Given the description of an element on the screen output the (x, y) to click on. 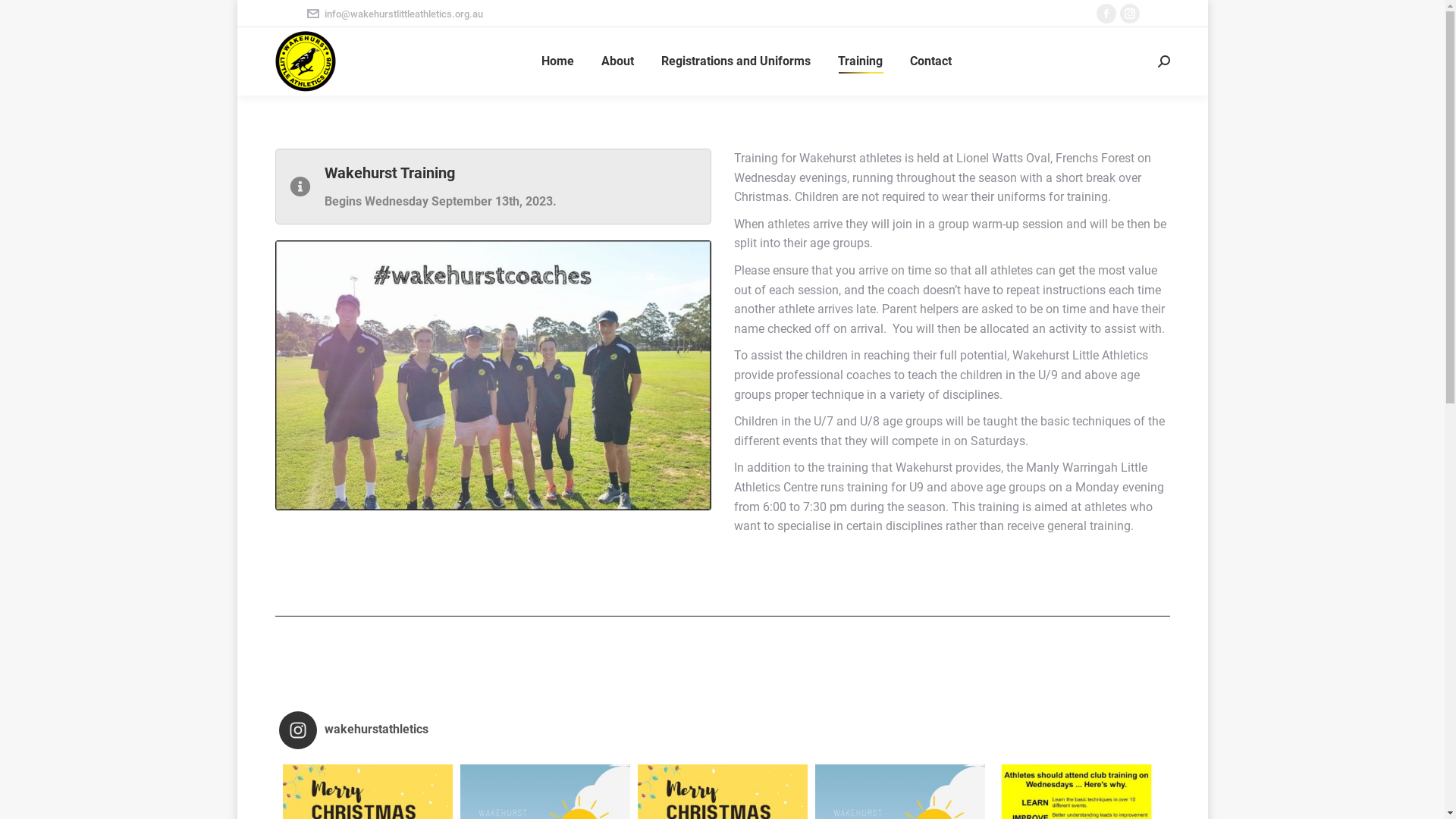
Go! Element type: text (23, 16)
wakehurstathletics Element type: text (726, 730)
Contact Element type: text (930, 60)
Training Element type: text (859, 60)
Instagram page opens in new window Element type: text (1129, 13)
Home Element type: text (557, 60)
training Element type: hover (492, 375)
Facebook page opens in new window Element type: text (1106, 13)
About Element type: text (617, 60)
Registrations and Uniforms Element type: text (735, 60)
